Given the description of an element on the screen output the (x, y) to click on. 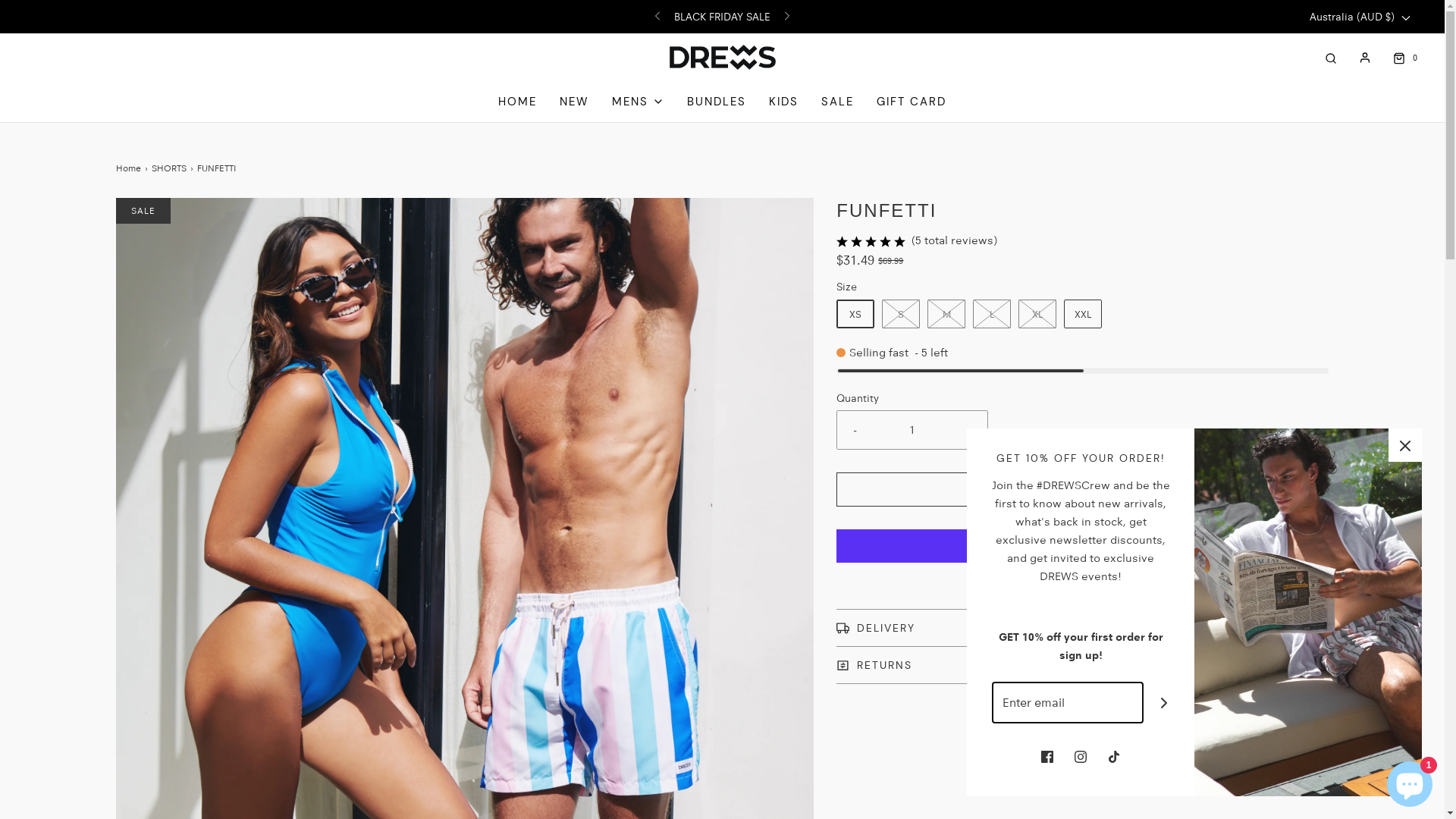
NEW Element type: text (574, 101)
Log in Element type: hover (1364, 57)
GIFT CARD Element type: text (911, 101)
Home Element type: text (129, 167)
Australia (AUD $) Element type: text (1369, 16)
0 Element type: text (1403, 57)
- Element type: text (854, 429)
Search Element type: hover (1330, 57)
KIDS Element type: text (783, 101)
ADD TO CART Element type: text (1082, 489)
Shopify online store chat Element type: hover (1409, 780)
SALE Element type: text (837, 101)
MENS Element type: text (637, 101)
More payment options Element type: text (1082, 583)
HOME Element type: text (517, 101)
+ Element type: text (969, 429)
5 total reviews Element type: text (954, 240)
BUNDLES Element type: text (716, 101)
SHORTS Element type: text (170, 167)
